Given the description of an element on the screen output the (x, y) to click on. 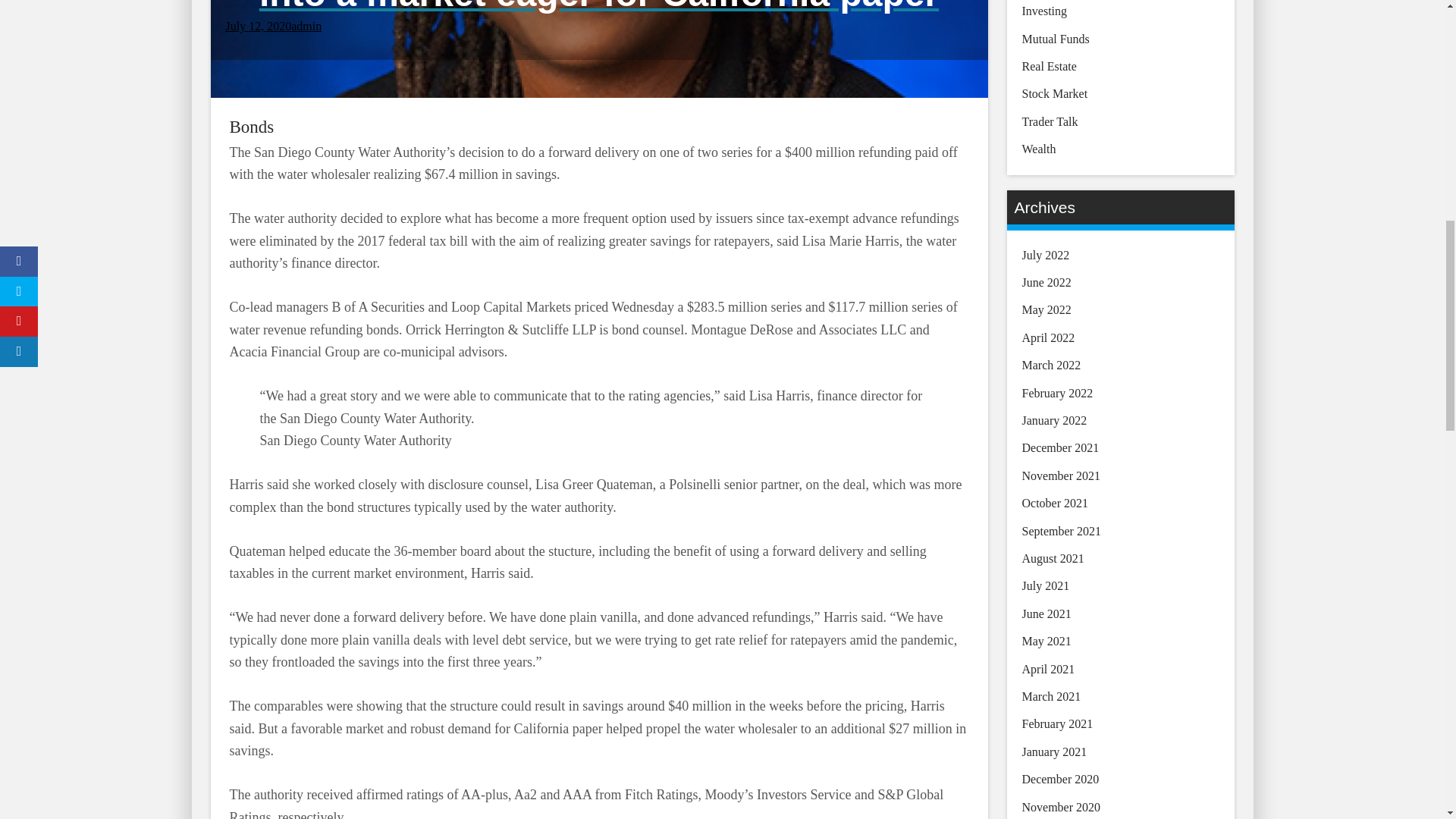
Bonds (250, 126)
